Given the description of an element on the screen output the (x, y) to click on. 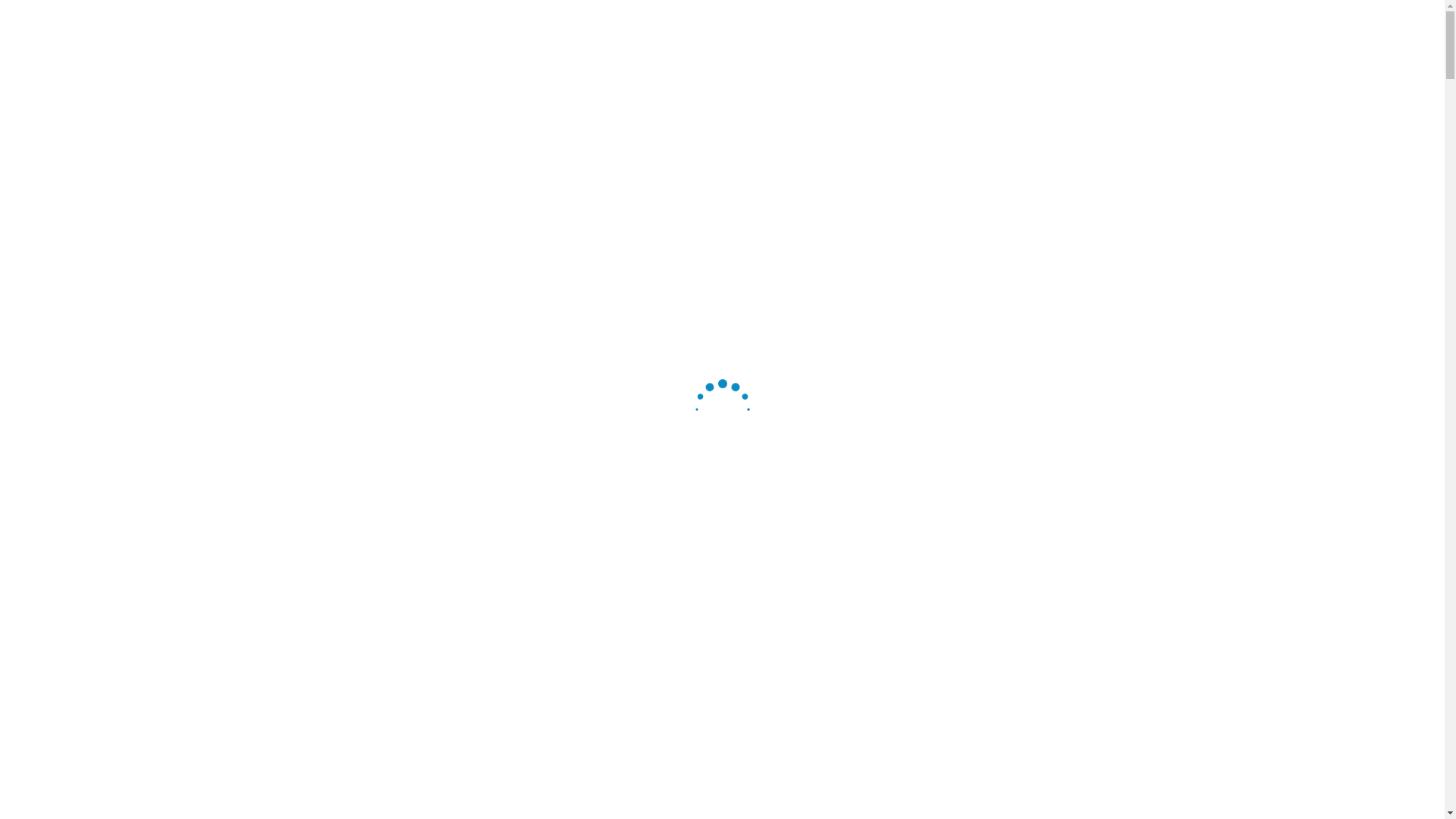
HAQQIMIZDA Element type: text (398, 115)
BLOG Element type: text (556, 115)
office@azlearn.org Element type: text (1001, 54)
KURSLAR Element type: text (486, 115)
